Given the description of an element on the screen output the (x, y) to click on. 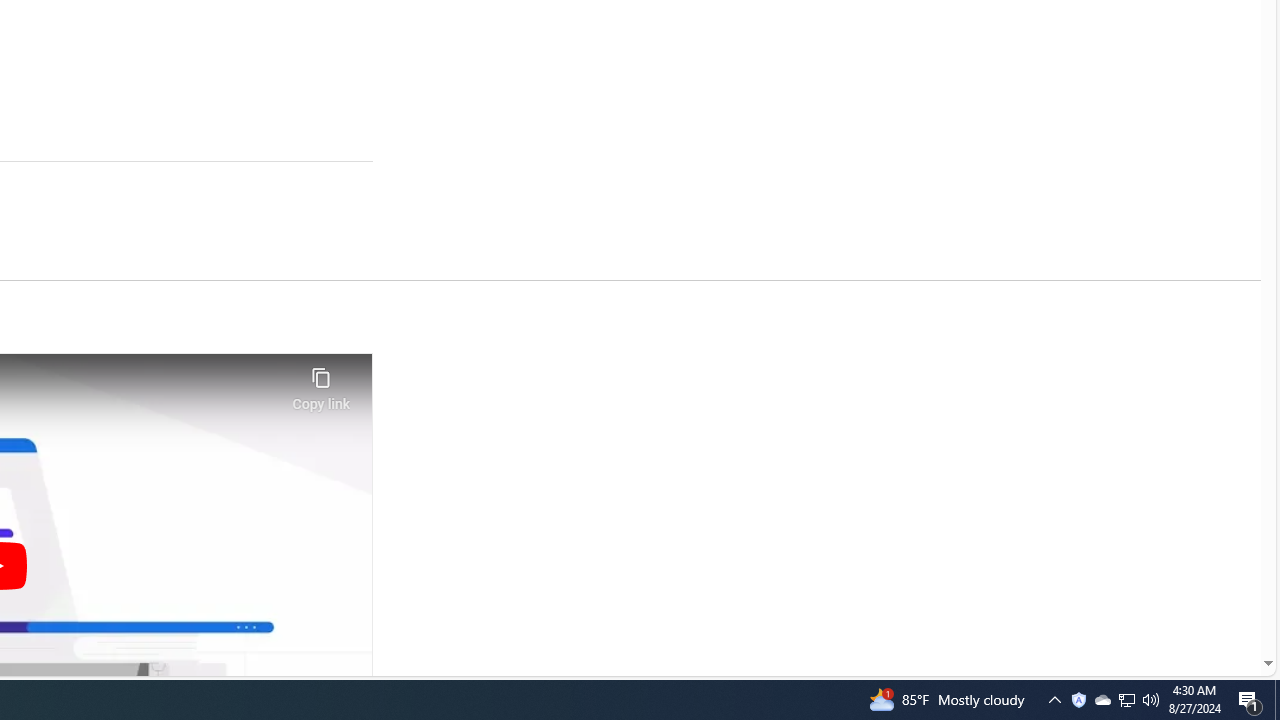
Copy link (320, 383)
